Given the description of an element on the screen output the (x, y) to click on. 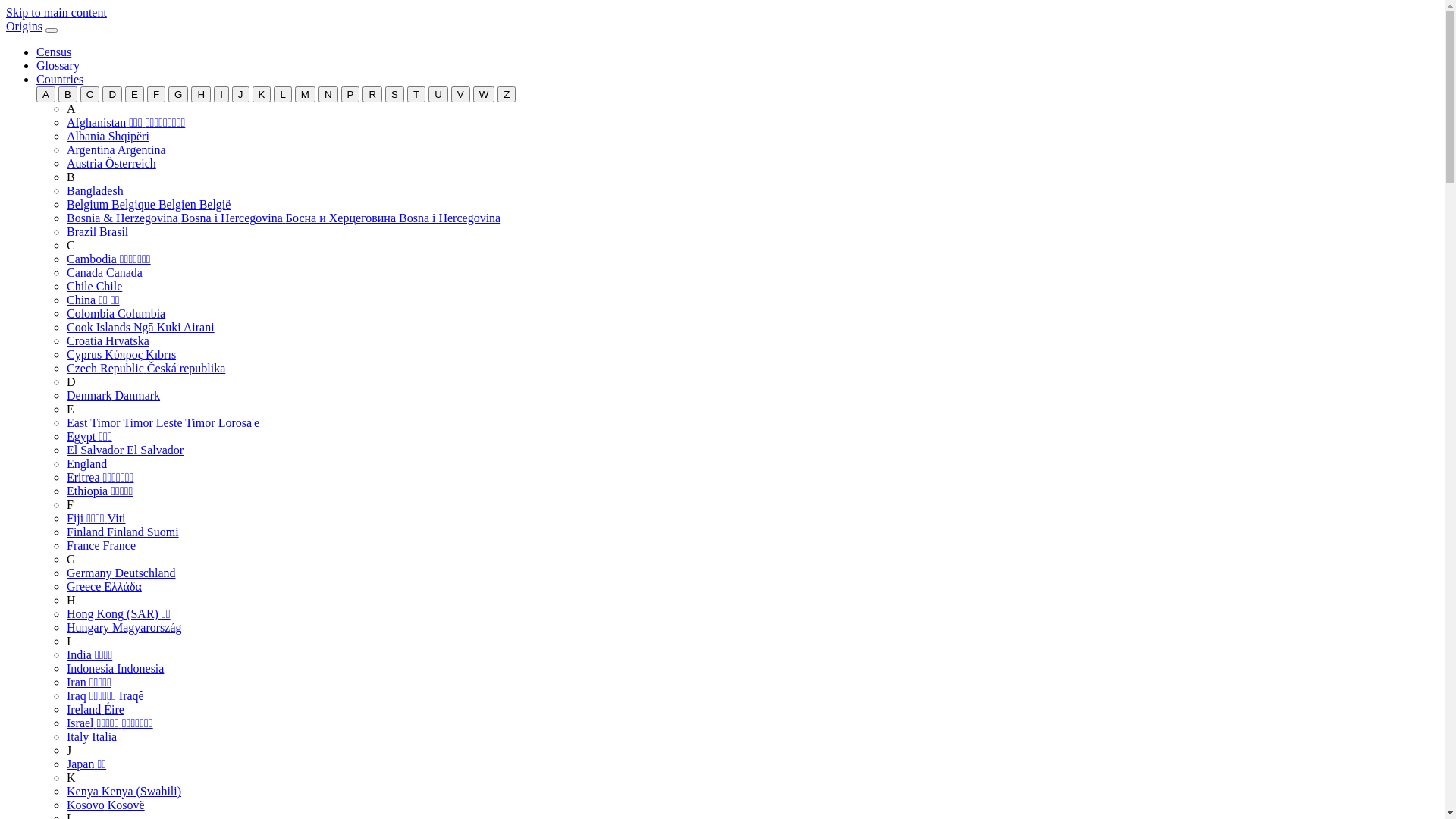
Skip to main content Element type: text (56, 12)
H Element type: text (200, 94)
K Element type: text (260, 94)
F Element type: text (69, 504)
K Element type: text (70, 777)
D Element type: text (70, 381)
Colombia Columbia Element type: text (115, 313)
G Element type: text (178, 94)
C Element type: text (90, 94)
Germany Deutschland Element type: text (120, 572)
B Element type: text (67, 94)
Canada Canada Element type: text (104, 272)
Origins Element type: text (24, 25)
R Element type: text (372, 94)
Census Element type: text (53, 51)
E Element type: text (134, 94)
J Element type: text (240, 94)
Argentina Argentina Element type: text (116, 149)
Bangladesh Element type: text (94, 190)
M Element type: text (304, 94)
France France Element type: text (100, 545)
L Element type: text (282, 94)
B Element type: text (70, 176)
A Element type: text (70, 108)
V Element type: text (460, 94)
Croatia Hrvatska Element type: text (107, 340)
S Element type: text (394, 94)
Indonesia Indonesia Element type: text (114, 668)
Brazil Brasil Element type: text (97, 231)
Italy Italia Element type: text (91, 736)
J Element type: text (68, 749)
W Element type: text (484, 94)
El Salvador El Salvador Element type: text (124, 449)
D Element type: text (112, 94)
E Element type: text (70, 408)
Countries Element type: text (59, 78)
England Element type: text (86, 463)
N Element type: text (328, 94)
F Element type: text (156, 94)
C Element type: text (70, 244)
I Element type: text (68, 640)
A Element type: text (45, 94)
G Element type: text (70, 558)
Finland Finland Suomi Element type: text (122, 531)
Chile Chile Element type: text (94, 285)
T Element type: text (416, 94)
Z Element type: text (506, 94)
Kenya Kenya (Swahili) Element type: text (123, 790)
Denmark Danmark Element type: text (113, 395)
East Timor Timor Leste Timor Lorosa'e Element type: text (162, 422)
Glossary Element type: text (57, 65)
I Element type: text (221, 94)
P Element type: text (350, 94)
U Element type: text (438, 94)
H Element type: text (70, 599)
